Given the description of an element on the screen output the (x, y) to click on. 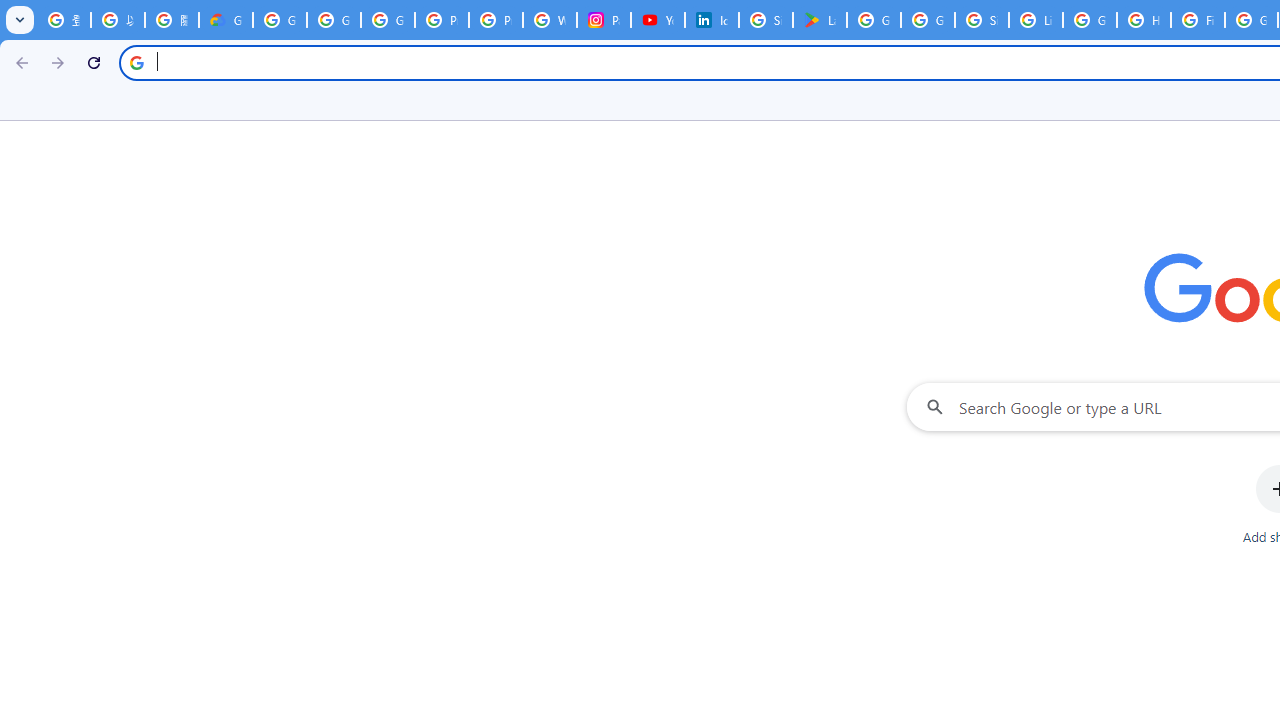
Privacy Help Center - Policies Help (441, 20)
YouTube Culture & Trends - On The Rise: Handcam Videos (657, 20)
Identity verification via Persona | LinkedIn Help (711, 20)
Sign in - Google Accounts (765, 20)
Last Shelter: Survival - Apps on Google Play (819, 20)
Sign in - Google Accounts (981, 20)
